Given the description of an element on the screen output the (x, y) to click on. 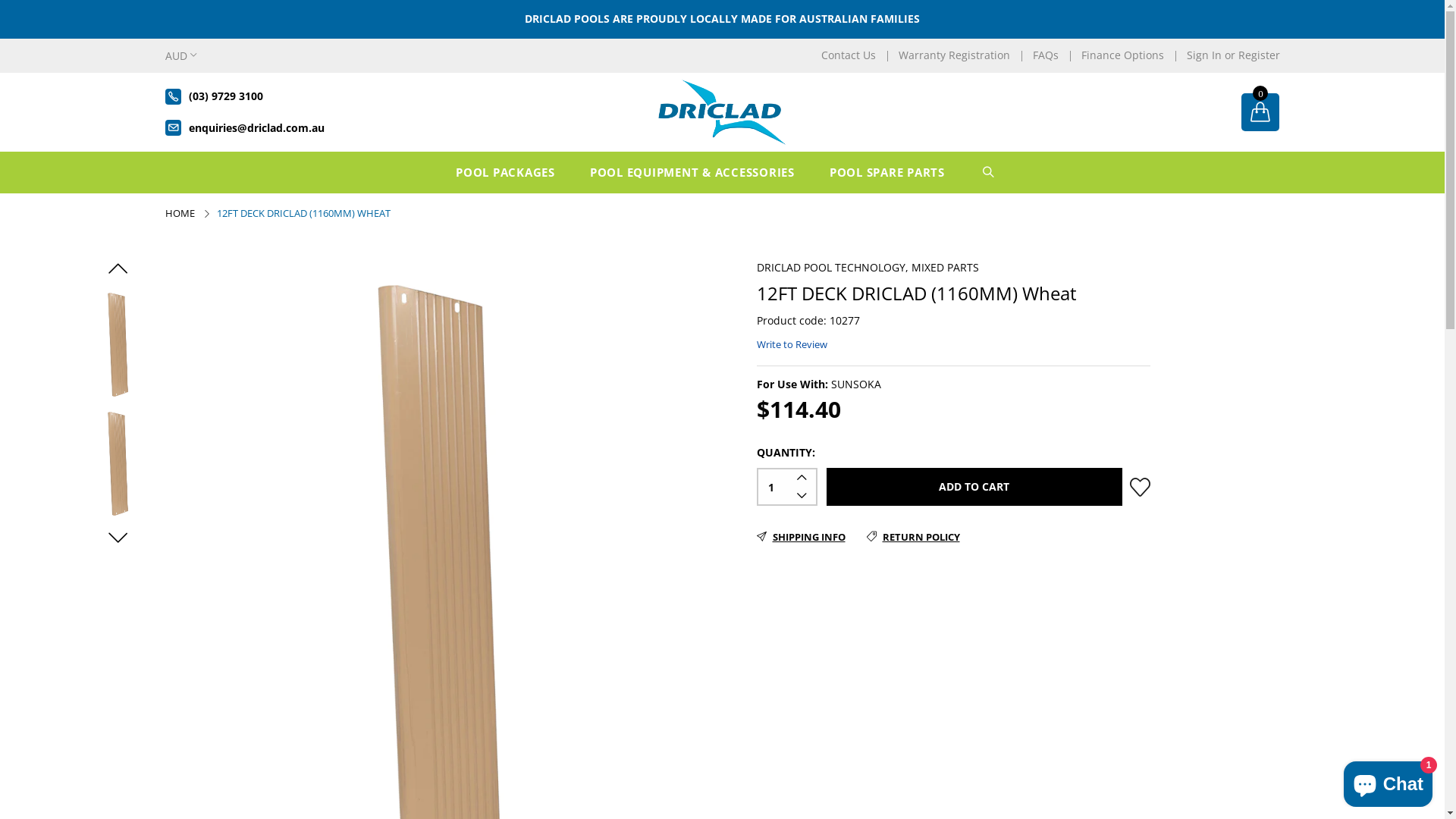
Finance Options Element type: text (1122, 55)
HOME Element type: text (181, 212)
POOL SPARE PARTS Element type: text (892, 172)
Warranty Registration Element type: text (953, 55)
12FT DECK DRICLAD (1160MM) WHEAT Element type: text (303, 212)
FAQs Element type: text (1045, 55)
Register Element type: text (1258, 54)
Contact Us Element type: text (847, 55)
POOL PACKAGES Element type: text (510, 172)
ADD TO CART Element type: text (974, 486)
SHIPPING INFO Element type: text (800, 537)
POOL EQUIPMENT & ACCESSORIES Element type: text (697, 172)
(03) 9729 3100 Element type: text (225, 96)
0 Element type: text (1260, 113)
Shopify online store chat Element type: hover (1388, 780)
Write to Review Element type: text (791, 344)
Wishlist Element type: hover (1139, 486)
RETURN POLICY Element type: text (912, 537)
enquiries@driclad.com.au Element type: text (255, 127)
Sign In Element type: text (1203, 54)
